Given the description of an element on the screen output the (x, y) to click on. 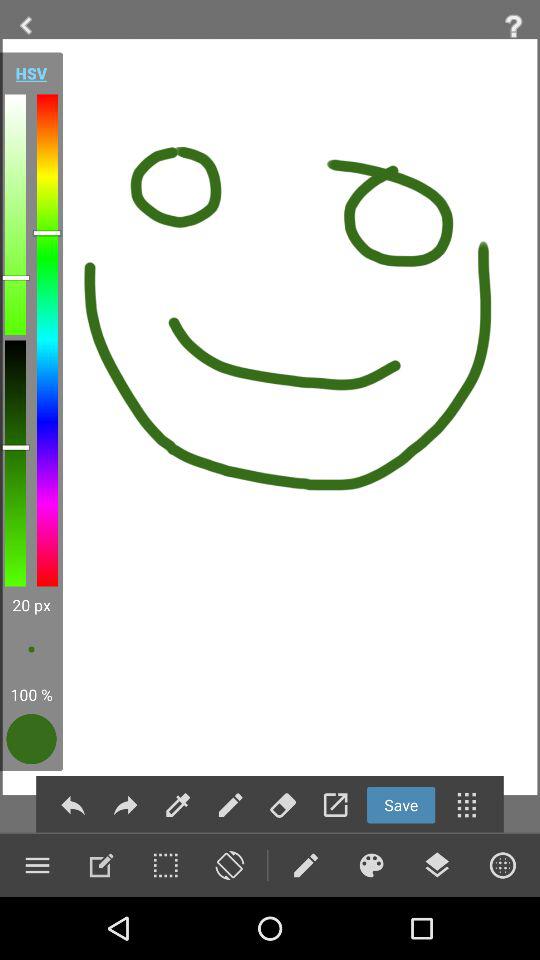
click to pin option (177, 804)
